Given the description of an element on the screen output the (x, y) to click on. 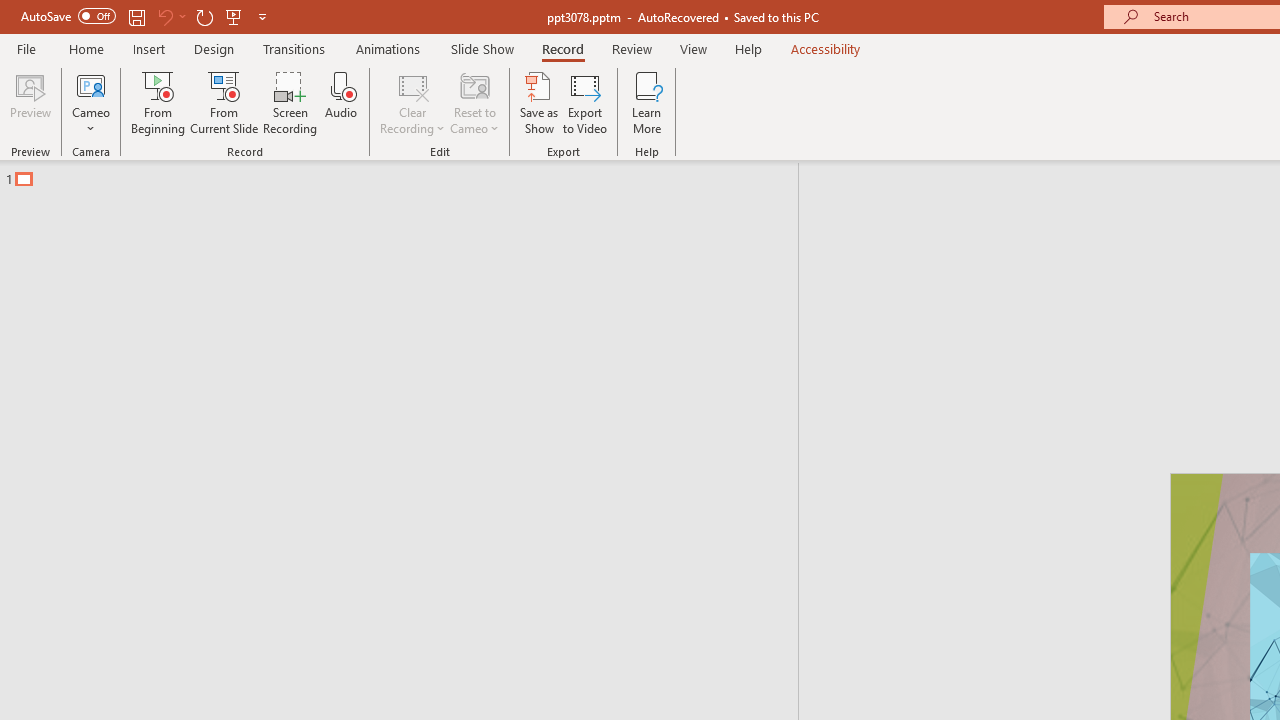
Screen Recording (290, 102)
